Given the description of an element on the screen output the (x, y) to click on. 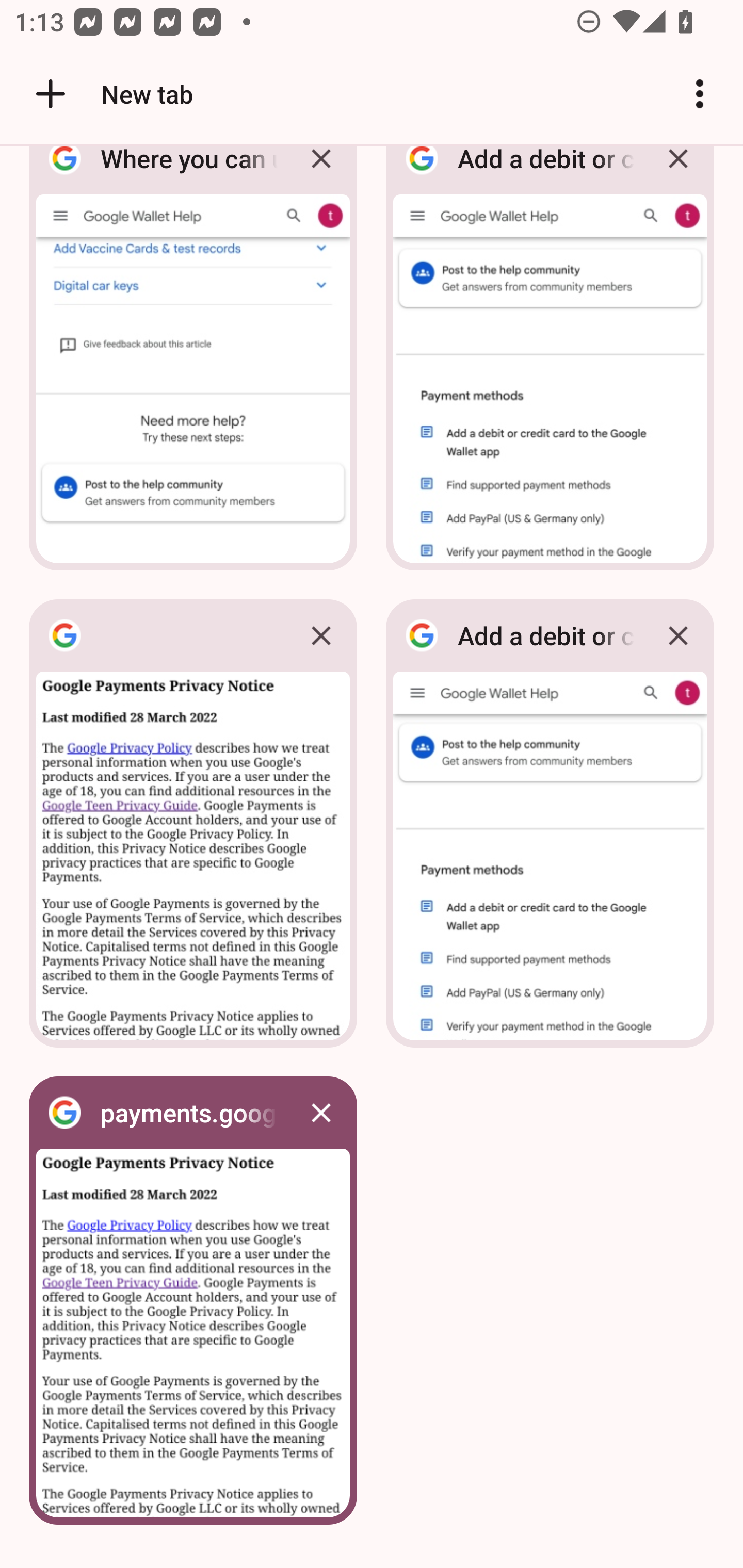
New tab (111, 93)
Customize and control Google Chrome (699, 93)
, tab Close  tab (192, 822)
Close  tab (320, 635)
